Given the description of an element on the screen output the (x, y) to click on. 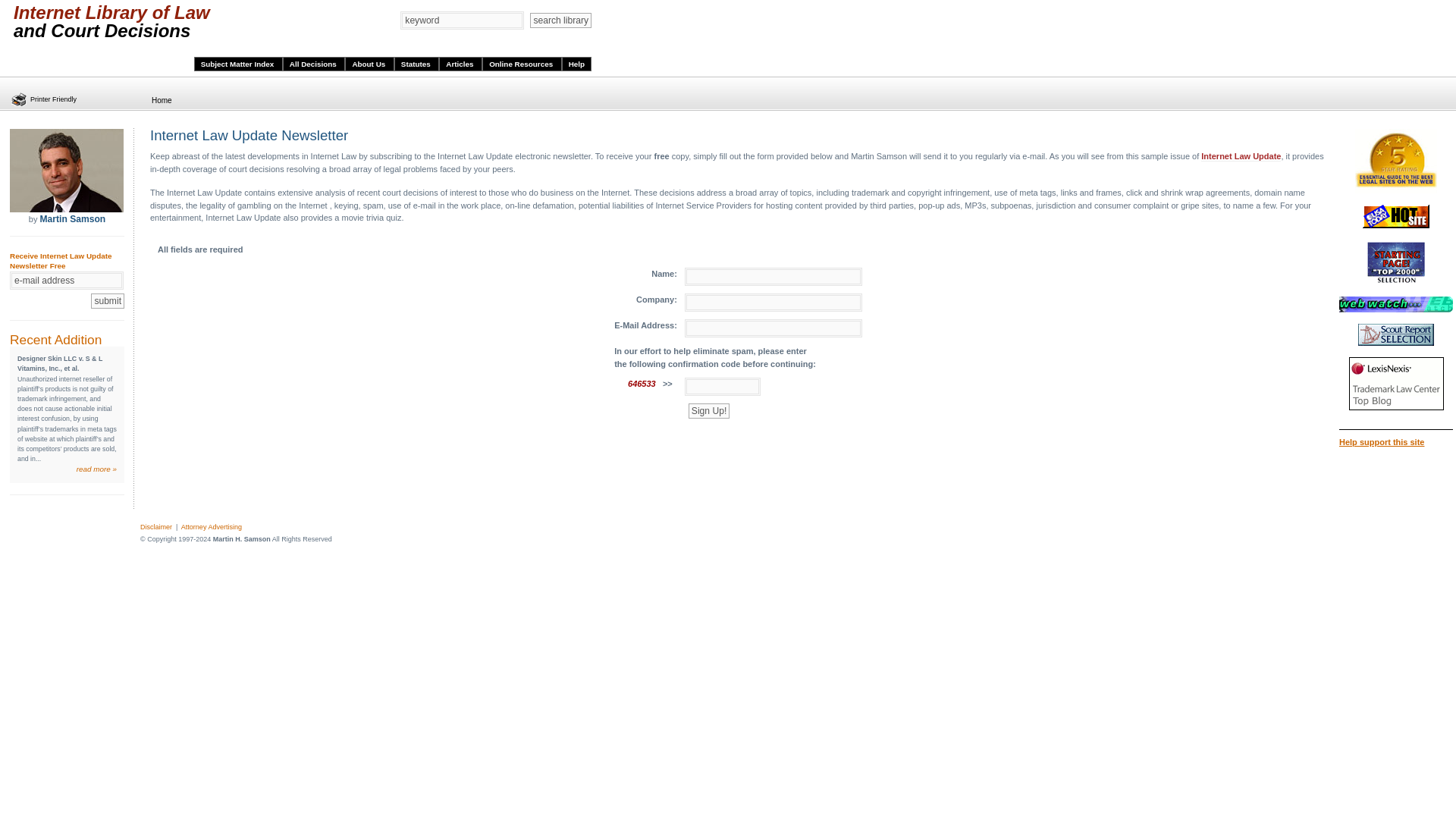
Printer Friendly (44, 99)
Attorney Advertising (210, 526)
keyword (462, 20)
Subject Matter Index (237, 63)
Sign Up! (708, 410)
Statutes (416, 63)
Internet Law Update (1241, 156)
Sign Up! (708, 410)
search library (560, 20)
Disclaimer (155, 526)
submit (106, 300)
Help (576, 63)
search library (560, 20)
submit (106, 300)
